Given the description of an element on the screen output the (x, y) to click on. 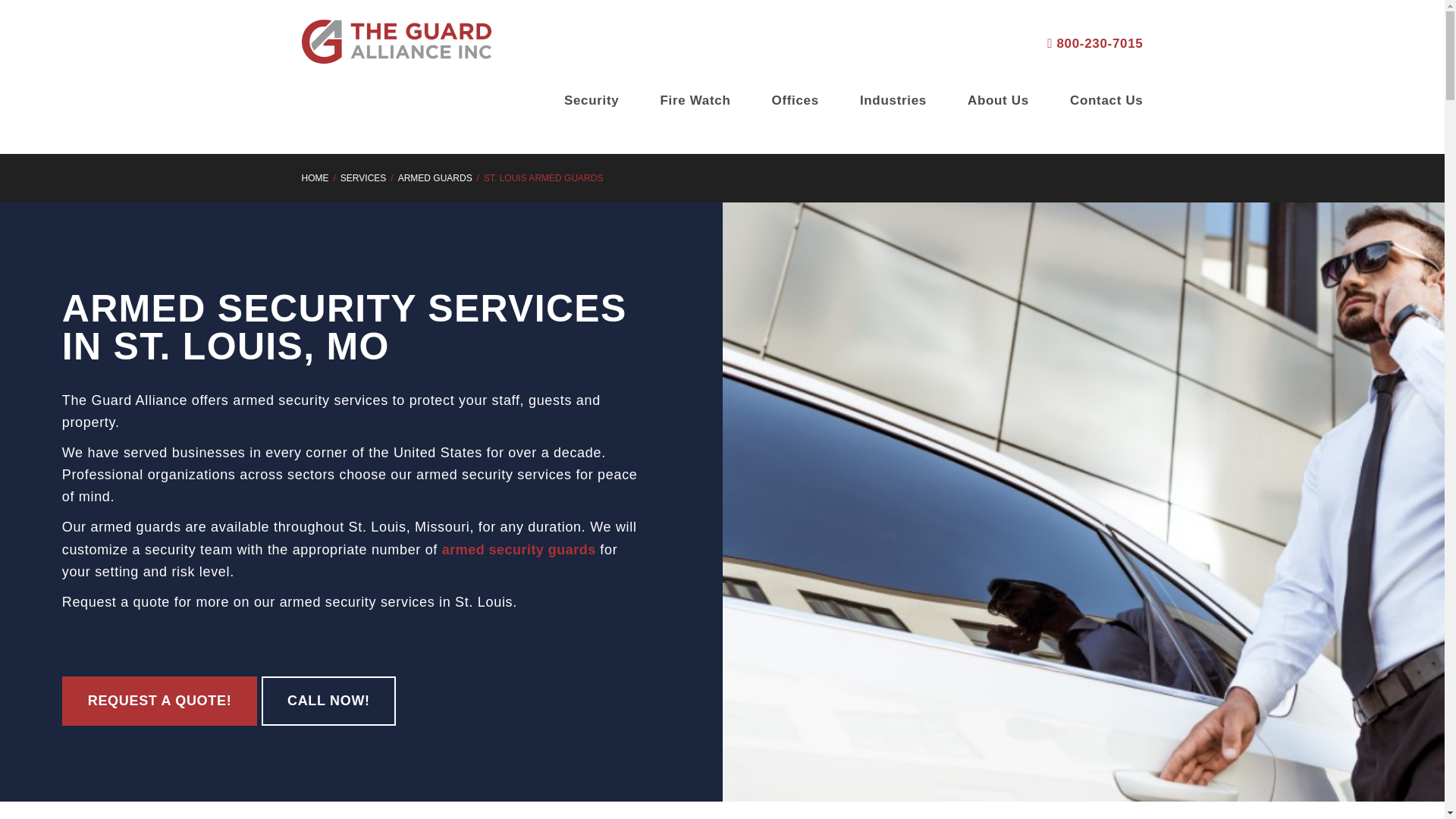
Request A Quote! (159, 700)
Services (362, 177)
Armed Guards (434, 177)
Fire Watch (694, 100)
Home (315, 177)
